Given the description of an element on the screen output the (x, y) to click on. 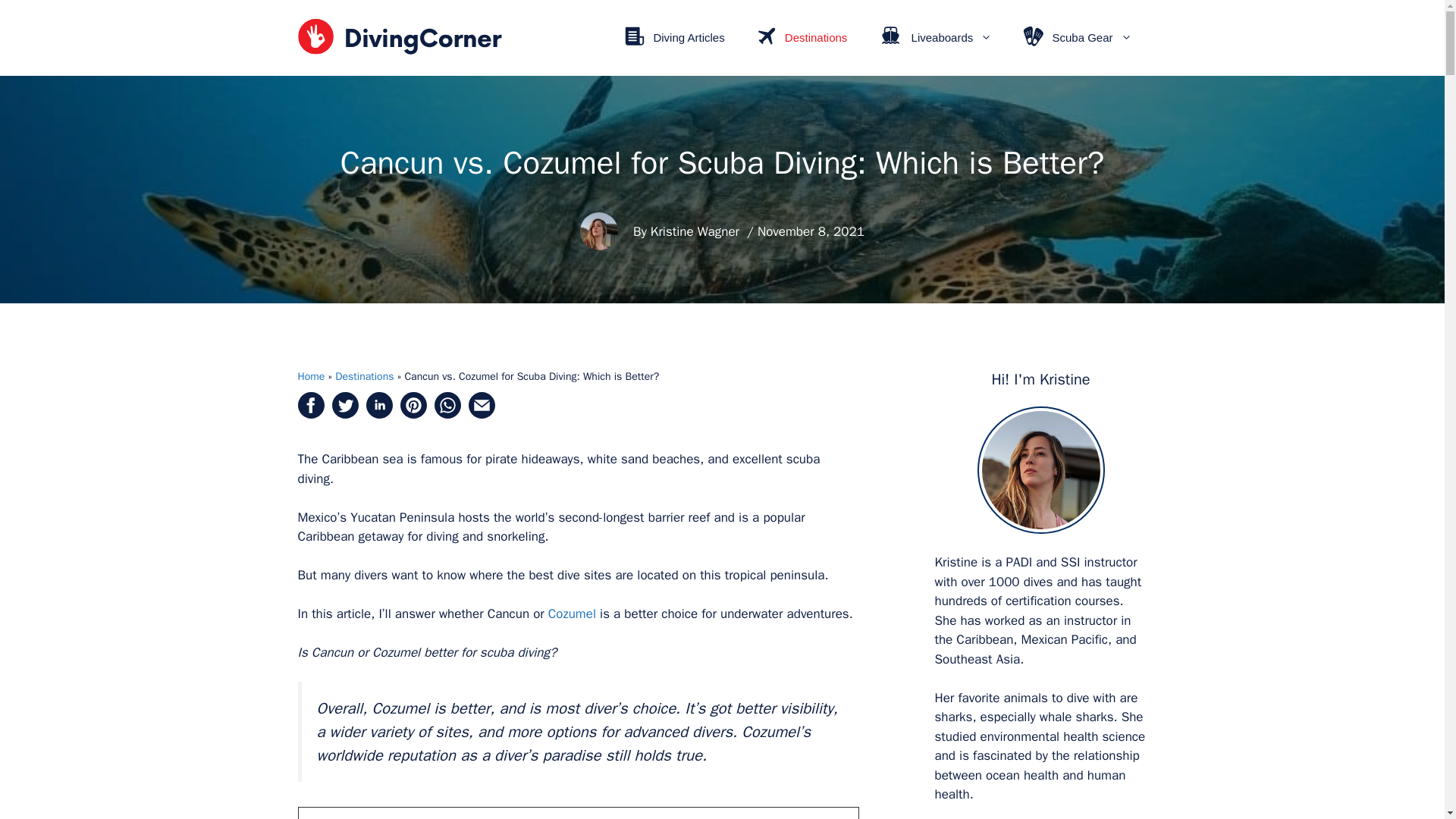
Home (310, 376)
Share this post! (446, 414)
Share this post! (378, 414)
Diving Articles (673, 37)
Scuba Gear (1077, 37)
Destinations (801, 37)
Liveaboards (934, 37)
Destinations (363, 376)
Email this post! (481, 414)
Share this post! (310, 414)
Tweet this post! (344, 414)
Pin this post! (413, 414)
Cozumel (571, 613)
